Given the description of an element on the screen output the (x, y) to click on. 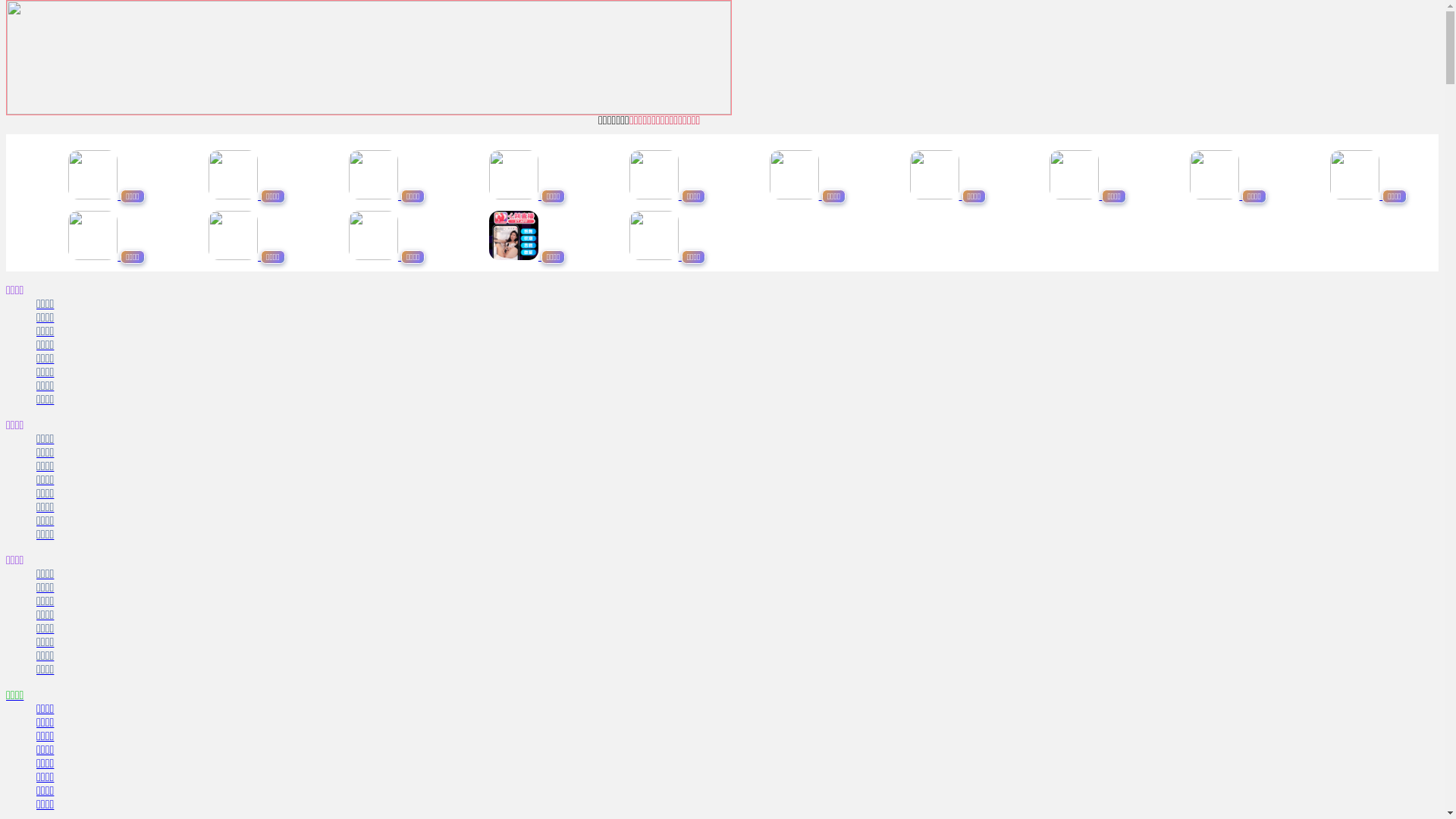
English Element type: text (1112, 26)
